Given the description of an element on the screen output the (x, y) to click on. 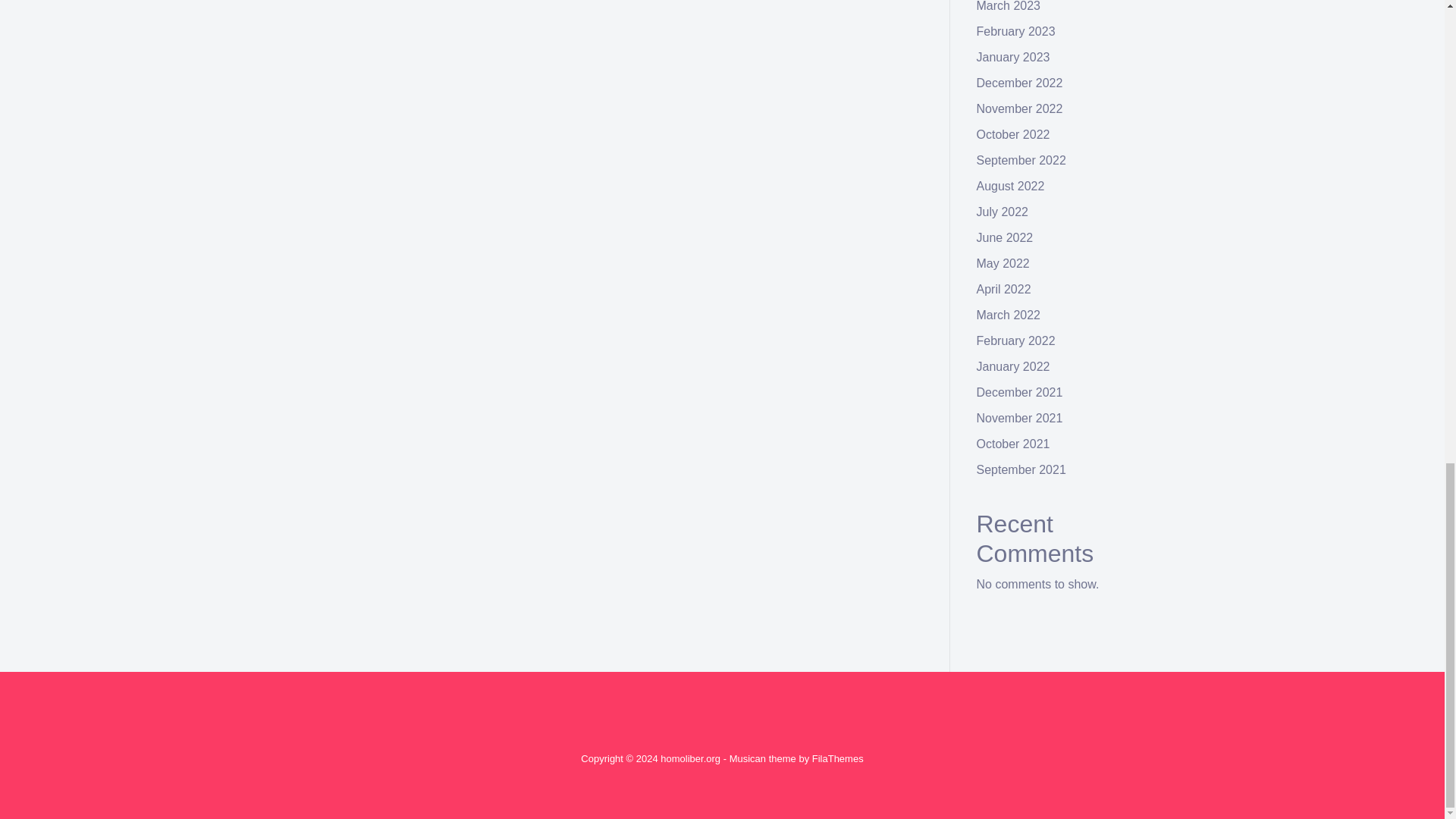
March 2023 (1008, 6)
December 2022 (1019, 82)
January 2023 (1012, 56)
November 2022 (1019, 108)
February 2023 (1015, 31)
homoliber.org (690, 758)
